Given the description of an element on the screen output the (x, y) to click on. 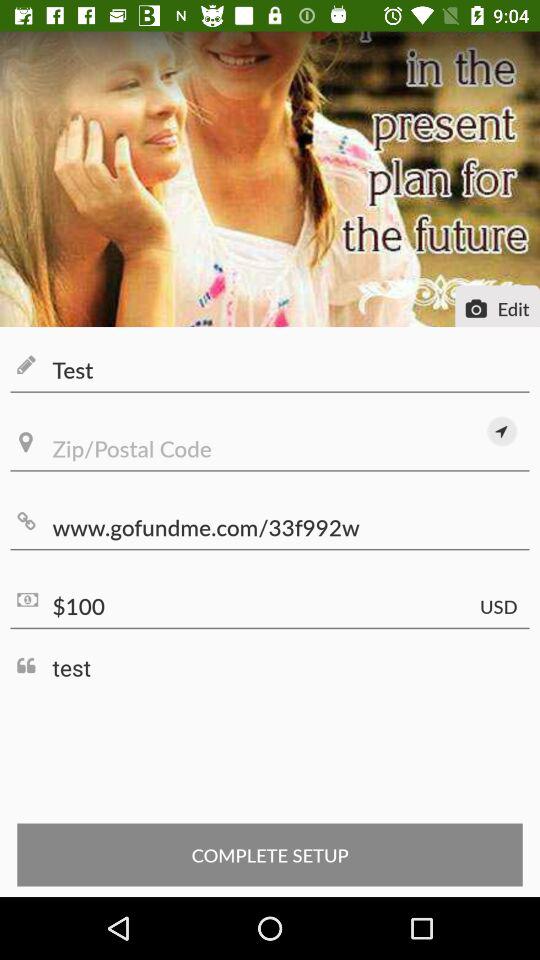
open $100 item (269, 606)
